Given the description of an element on the screen output the (x, y) to click on. 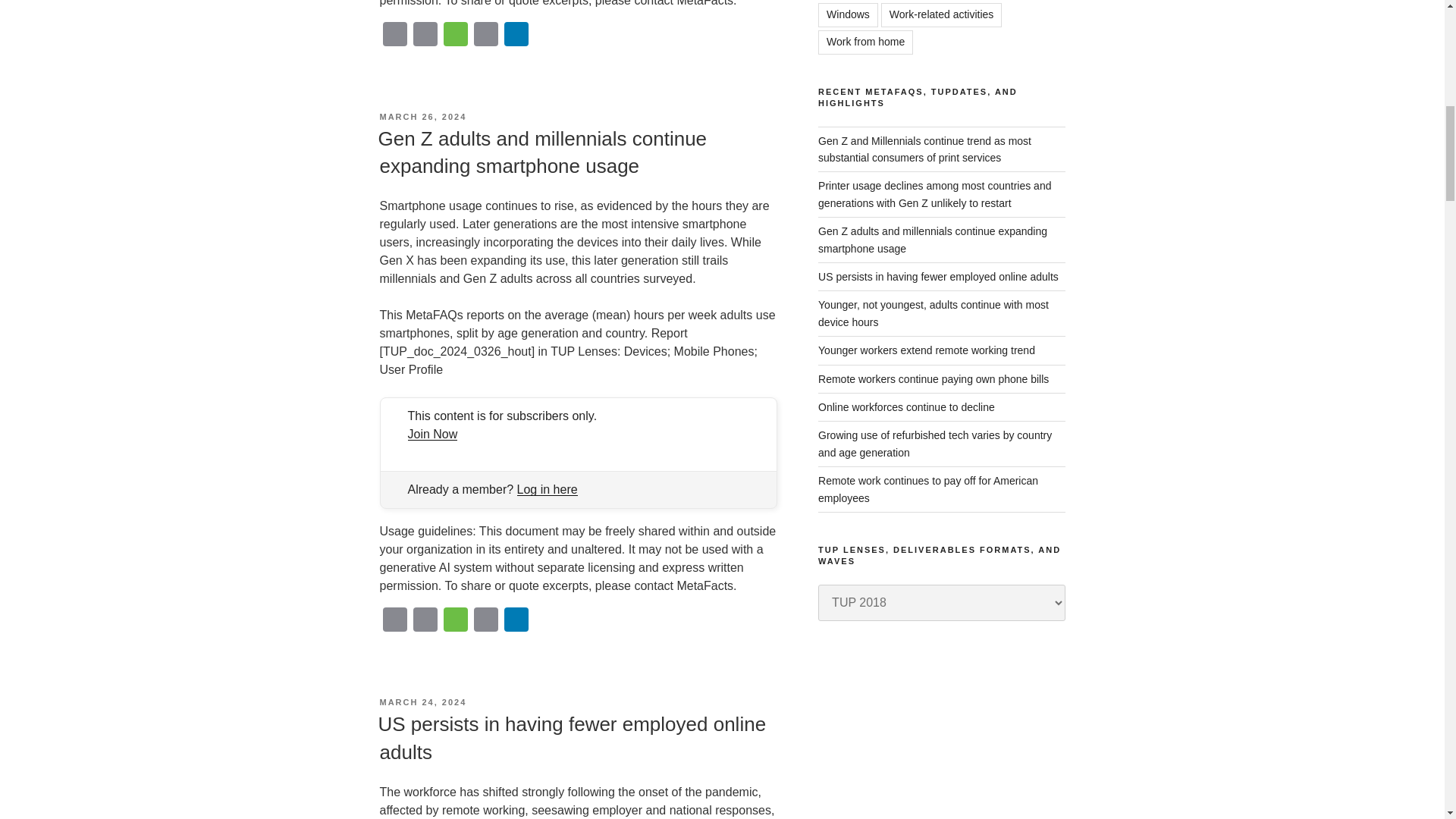
LinkedIn (515, 621)
Copy Link (485, 35)
Email (393, 621)
Message (454, 35)
LinkedIn (515, 35)
Email (393, 35)
Copy Link (485, 621)
Print (424, 35)
Print (424, 621)
Message (454, 621)
